Given the description of an element on the screen output the (x, y) to click on. 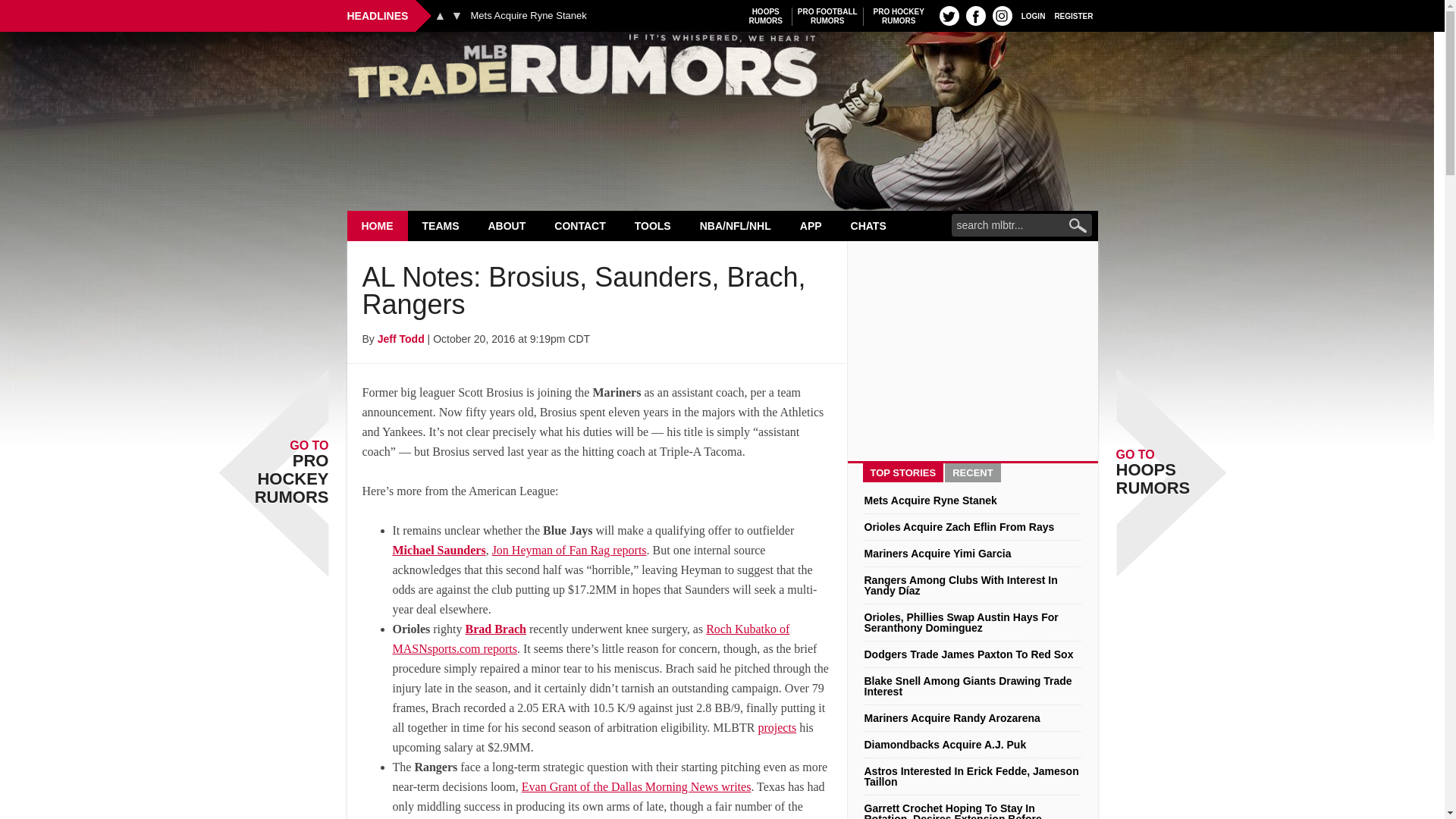
LOGIN (1032, 15)
FB profile (765, 16)
HOME (975, 15)
Previous (377, 225)
REGISTER (439, 15)
TEAMS (1073, 15)
Twitter profile (440, 225)
MLB Trade Rumors (949, 15)
Mets Acquire Ryne Stanek (722, 69)
Instagram profile (528, 15)
Next (1001, 15)
Search (456, 15)
